Given the description of an element on the screen output the (x, y) to click on. 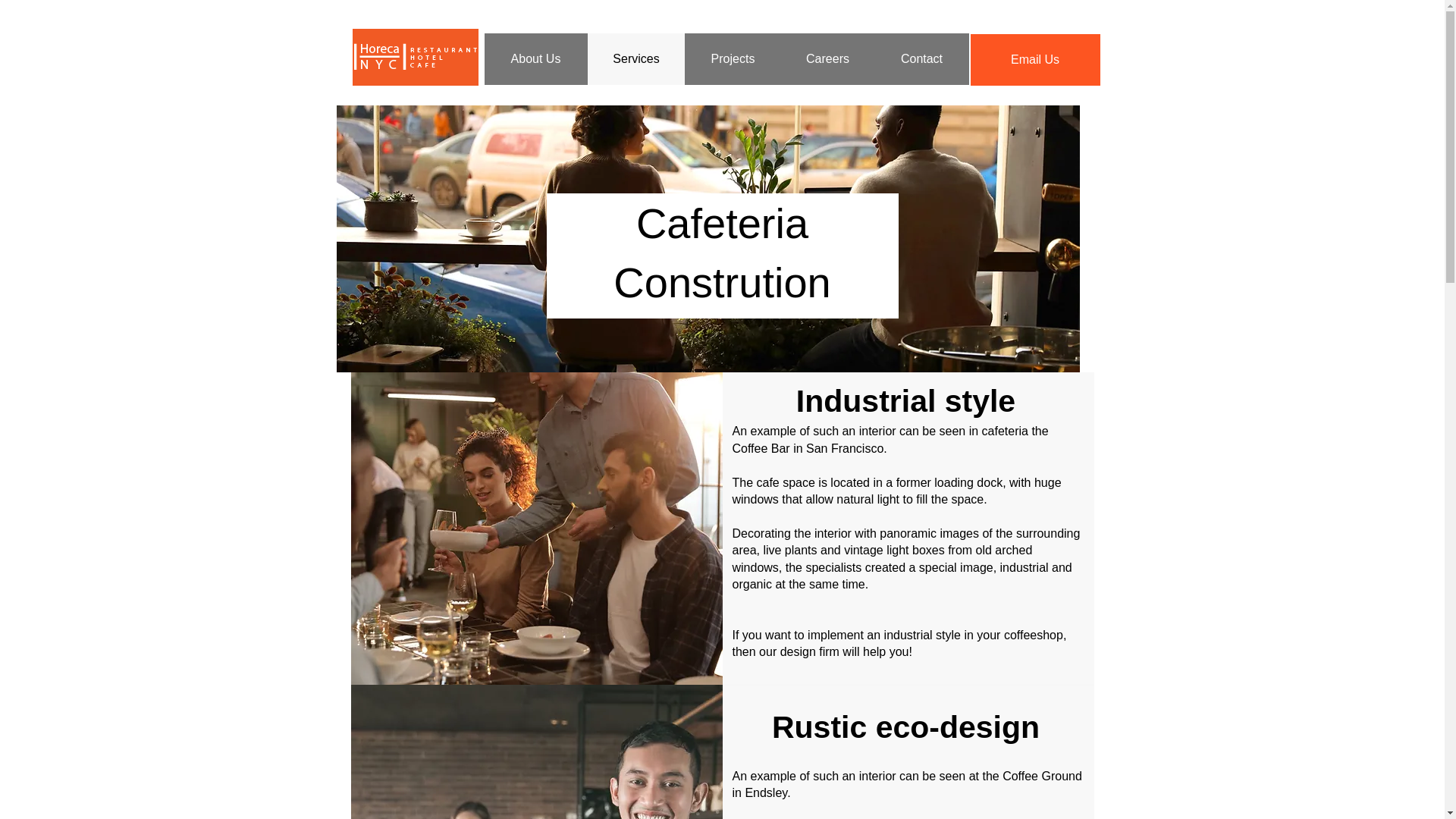
Projects (732, 59)
horeca-nyc1-09.png (414, 56)
Email Us (1034, 59)
Careers (827, 59)
Services (635, 59)
About Us (534, 59)
Contact (920, 59)
